Given the description of an element on the screen output the (x, y) to click on. 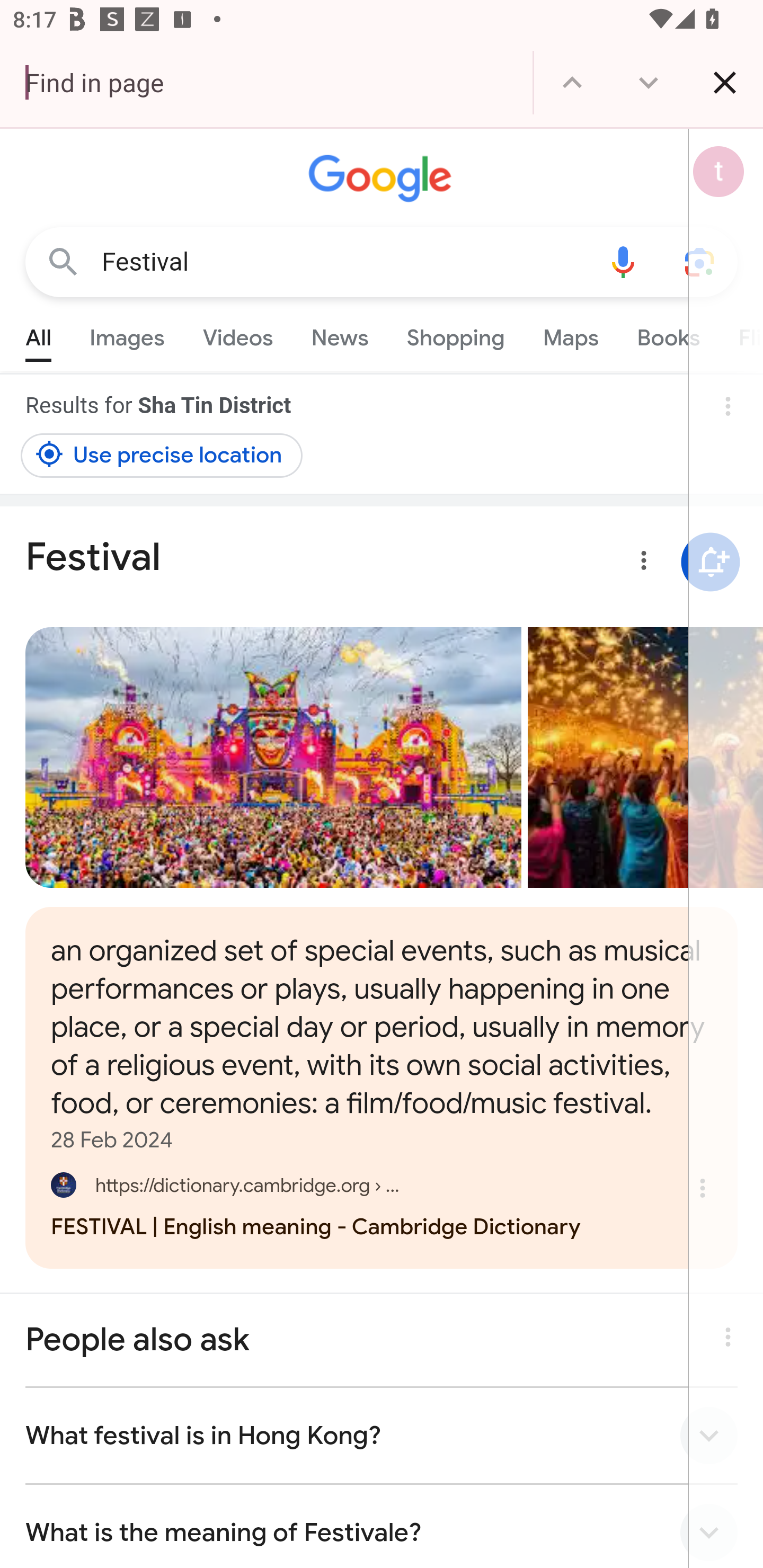
Find in page (266, 82)
Previous (572, 82)
Next (648, 82)
Close (724, 82)
Google (381, 179)
Google Search (63, 262)
Search using your camera or photos (699, 262)
Festival (343, 261)
Images (127, 333)
Videos (237, 333)
News (338, 333)
Shopping (455, 333)
Maps (570, 333)
Books (668, 333)
Use precise location (161, 455)
Get notifications about Festival (710, 561)
More options (640, 563)
FESTIVAL | English meaning - Cambridge Dictionary (381, 1203)
About this result (723, 1332)
What festival is in Hong Kong? (381, 1435)
What is the meaning of Festivale? (381, 1526)
